Given the description of an element on the screen output the (x, y) to click on. 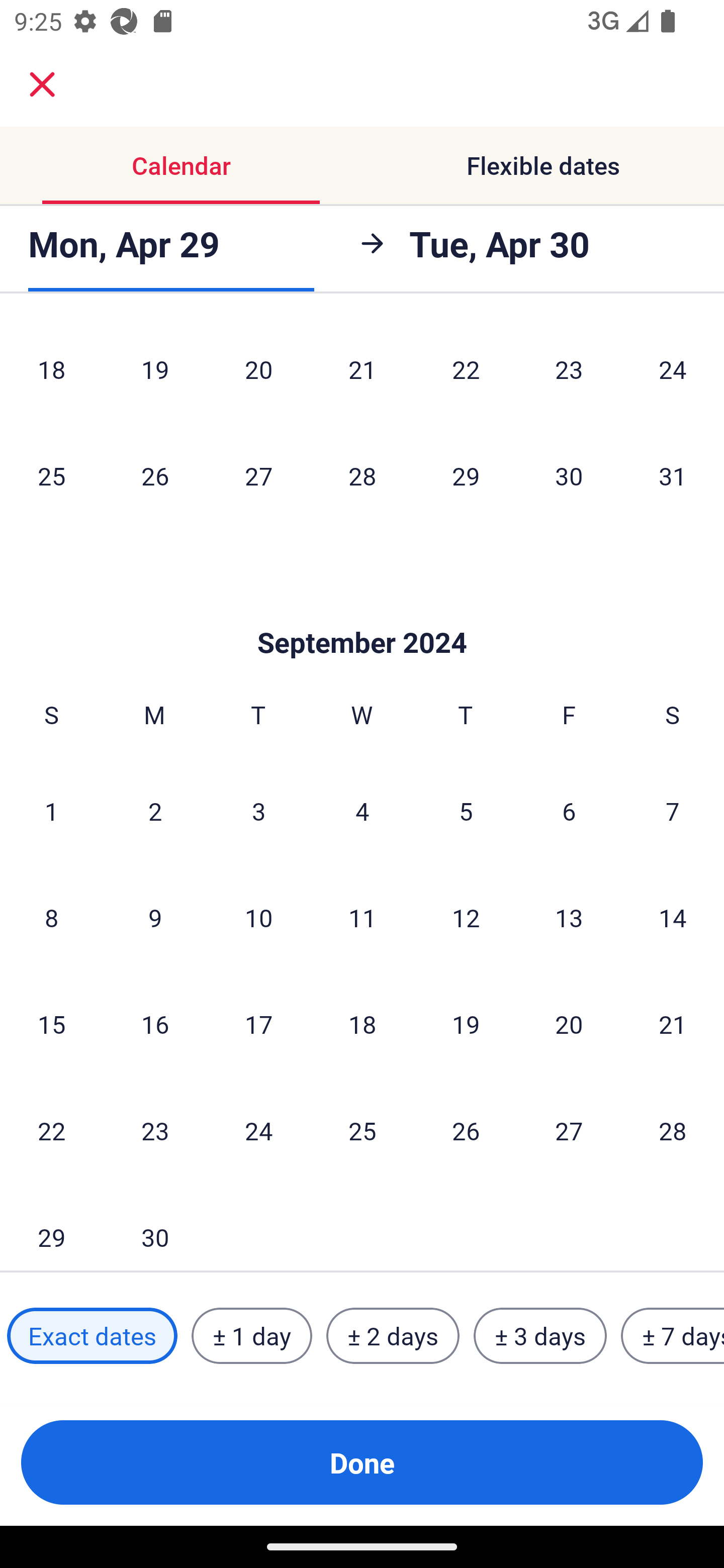
close. (42, 84)
Flexible dates (542, 164)
18 Sunday, August 18, 2024 (51, 370)
19 Monday, August 19, 2024 (155, 370)
20 Tuesday, August 20, 2024 (258, 370)
21 Wednesday, August 21, 2024 (362, 370)
22 Thursday, August 22, 2024 (465, 370)
23 Friday, August 23, 2024 (569, 370)
24 Saturday, August 24, 2024 (672, 370)
25 Sunday, August 25, 2024 (51, 475)
26 Monday, August 26, 2024 (155, 475)
27 Tuesday, August 27, 2024 (258, 475)
28 Wednesday, August 28, 2024 (362, 475)
29 Thursday, August 29, 2024 (465, 475)
30 Friday, August 30, 2024 (569, 475)
31 Saturday, August 31, 2024 (672, 475)
Skip to Done (362, 612)
1 Sunday, September 1, 2024 (51, 810)
2 Monday, September 2, 2024 (155, 810)
3 Tuesday, September 3, 2024 (258, 810)
4 Wednesday, September 4, 2024 (362, 810)
5 Thursday, September 5, 2024 (465, 810)
6 Friday, September 6, 2024 (569, 810)
7 Saturday, September 7, 2024 (672, 810)
8 Sunday, September 8, 2024 (51, 917)
9 Monday, September 9, 2024 (155, 917)
10 Tuesday, September 10, 2024 (258, 917)
11 Wednesday, September 11, 2024 (362, 917)
12 Thursday, September 12, 2024 (465, 917)
13 Friday, September 13, 2024 (569, 917)
14 Saturday, September 14, 2024 (672, 917)
15 Sunday, September 15, 2024 (51, 1023)
16 Monday, September 16, 2024 (155, 1023)
17 Tuesday, September 17, 2024 (258, 1023)
18 Wednesday, September 18, 2024 (362, 1023)
19 Thursday, September 19, 2024 (465, 1023)
20 Friday, September 20, 2024 (569, 1023)
21 Saturday, September 21, 2024 (672, 1023)
22 Sunday, September 22, 2024 (51, 1130)
23 Monday, September 23, 2024 (155, 1130)
24 Tuesday, September 24, 2024 (258, 1130)
25 Wednesday, September 25, 2024 (362, 1130)
26 Thursday, September 26, 2024 (465, 1130)
27 Friday, September 27, 2024 (569, 1130)
28 Saturday, September 28, 2024 (672, 1130)
29 Sunday, September 29, 2024 (51, 1227)
30 Monday, September 30, 2024 (155, 1227)
Exact dates (92, 1335)
± 1 day (251, 1335)
± 2 days (392, 1335)
± 3 days (539, 1335)
± 7 days (672, 1335)
Done (361, 1462)
